Given the description of an element on the screen output the (x, y) to click on. 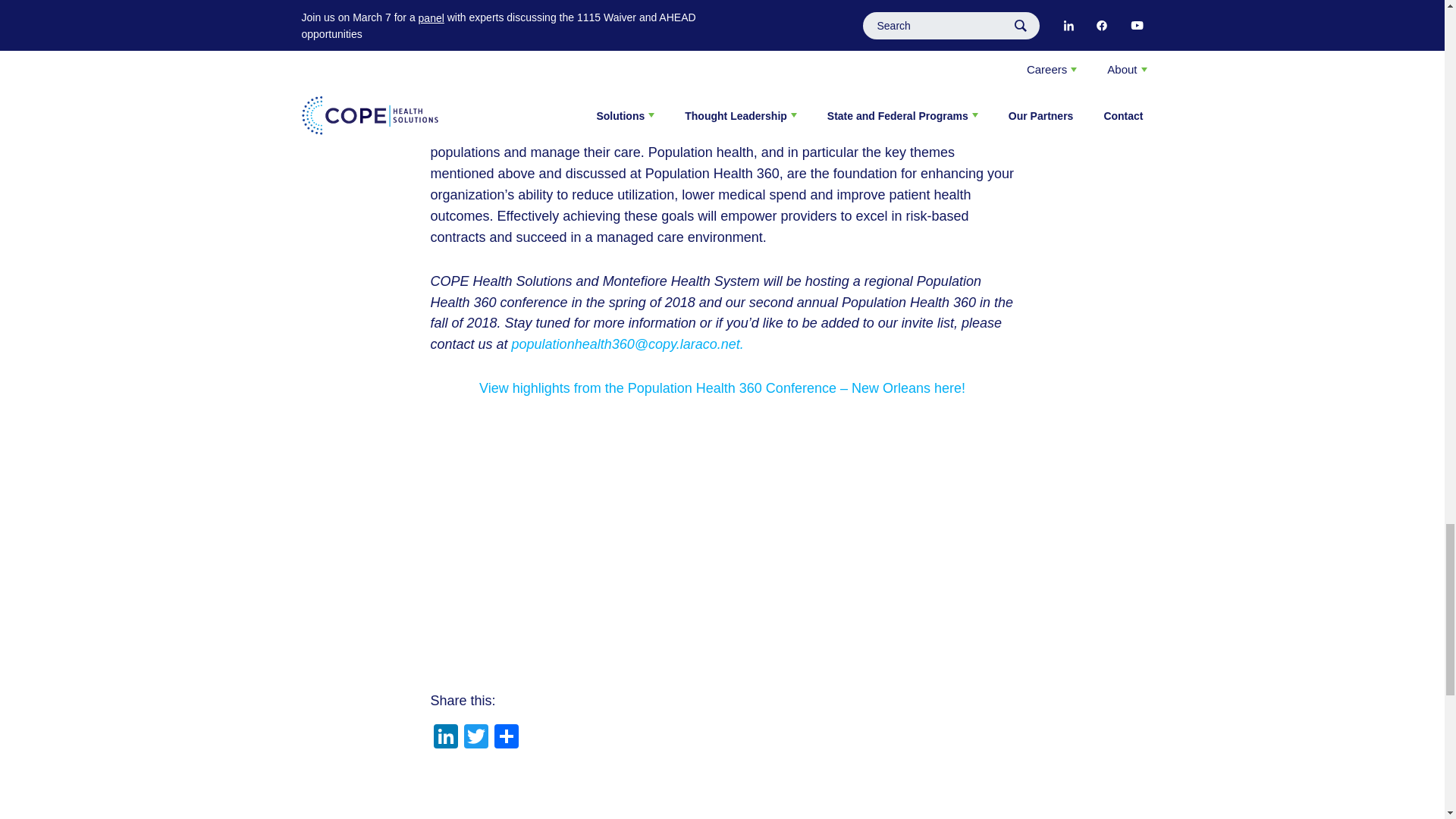
Twitter (476, 737)
LinkedIn (445, 737)
